Given the description of an element on the screen output the (x, y) to click on. 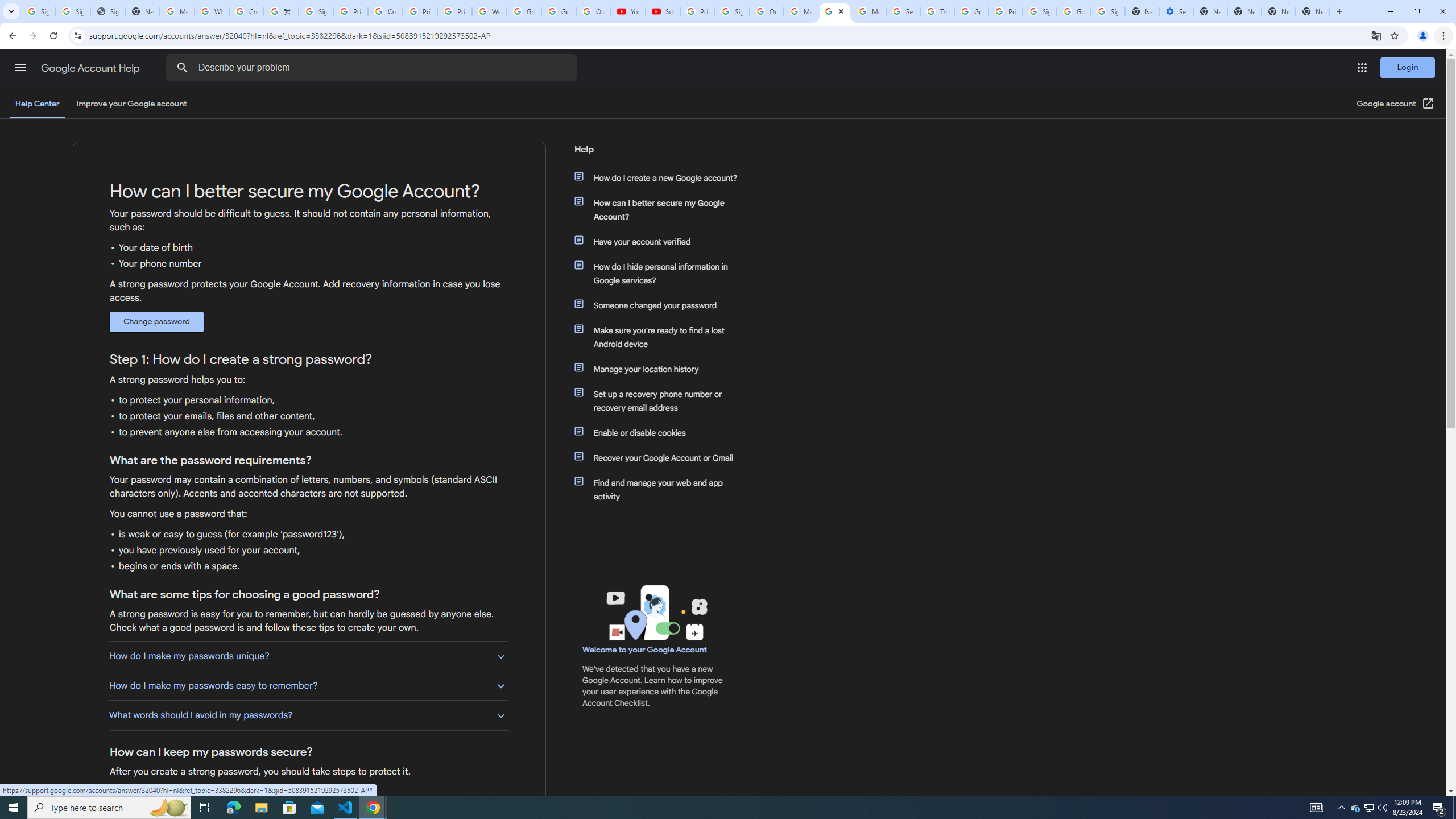
Sign in - Google Accounts (1107, 11)
How do I hide personal information in Google services? (661, 273)
What words should I avoid in my passwords? (308, 715)
How do I create a new Google account? (661, 177)
Sign in - Google Accounts (73, 11)
Google Account (Opens in new window) (1395, 103)
Someone changed your password (661, 305)
Search the Help Center (181, 67)
